Given the description of an element on the screen output the (x, y) to click on. 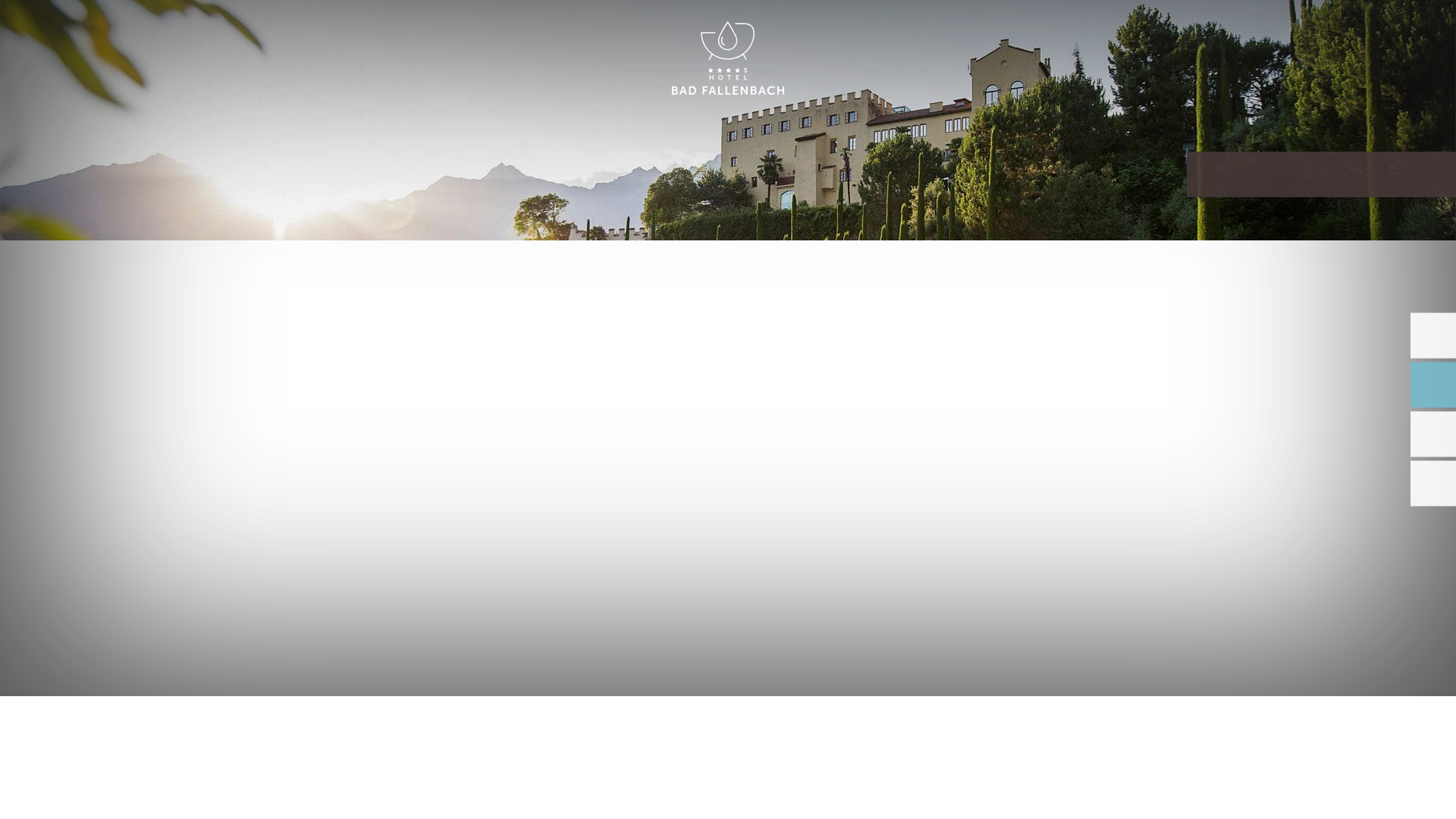
HOTEL BAD FALLENBACH (727, 59)
ENGLISH (1291, 29)
